Given the description of an element on the screen output the (x, y) to click on. 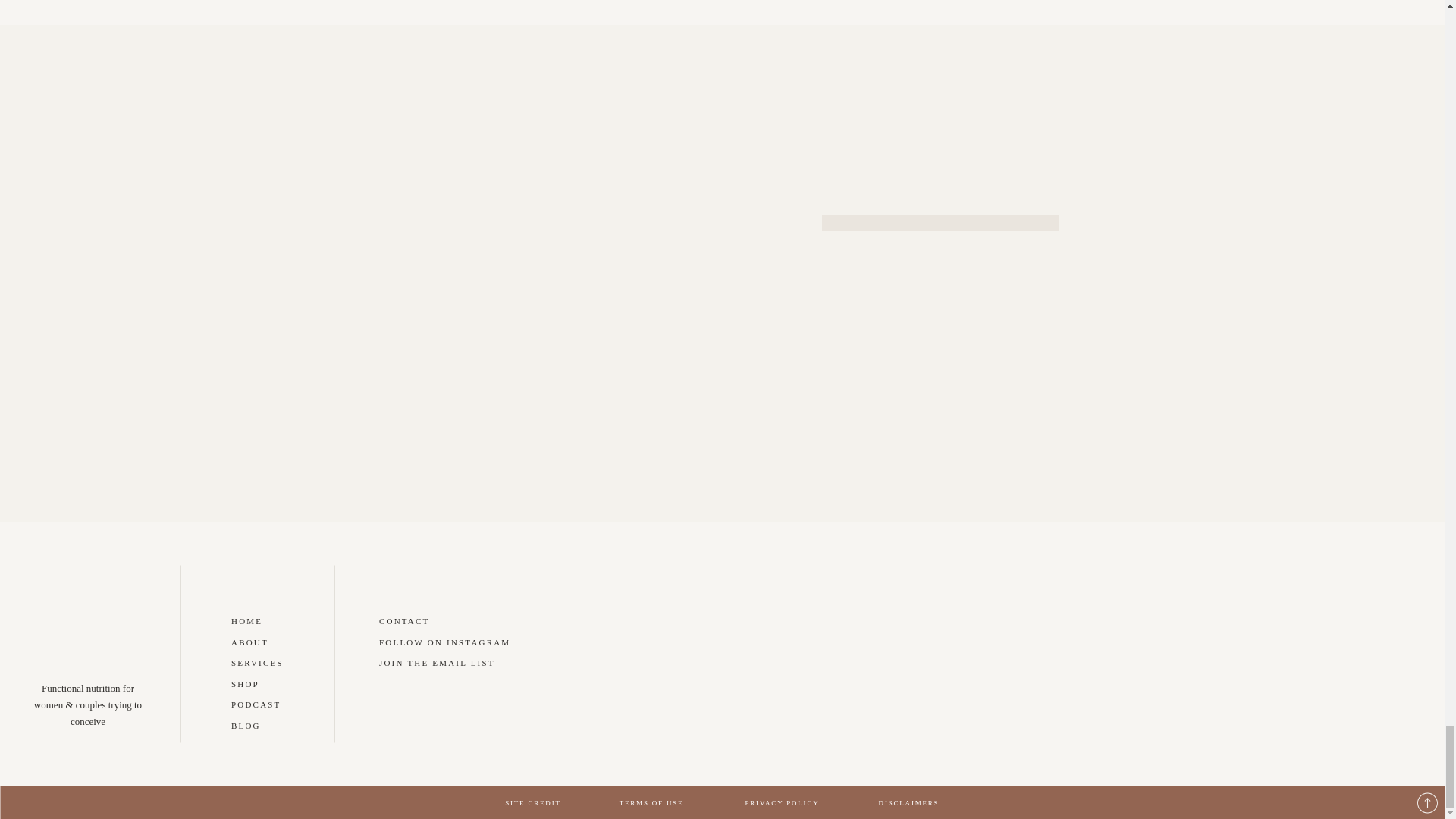
ABOUT (249, 641)
SHOP (245, 683)
HOME (246, 620)
BLOG (245, 724)
CONTACT (403, 620)
SERVICES (257, 662)
JOIN THE EMAIL LIST (436, 662)
FOLLOW ON INSTAGRAM (444, 641)
PODCAST (256, 704)
